Given the description of an element on the screen output the (x, y) to click on. 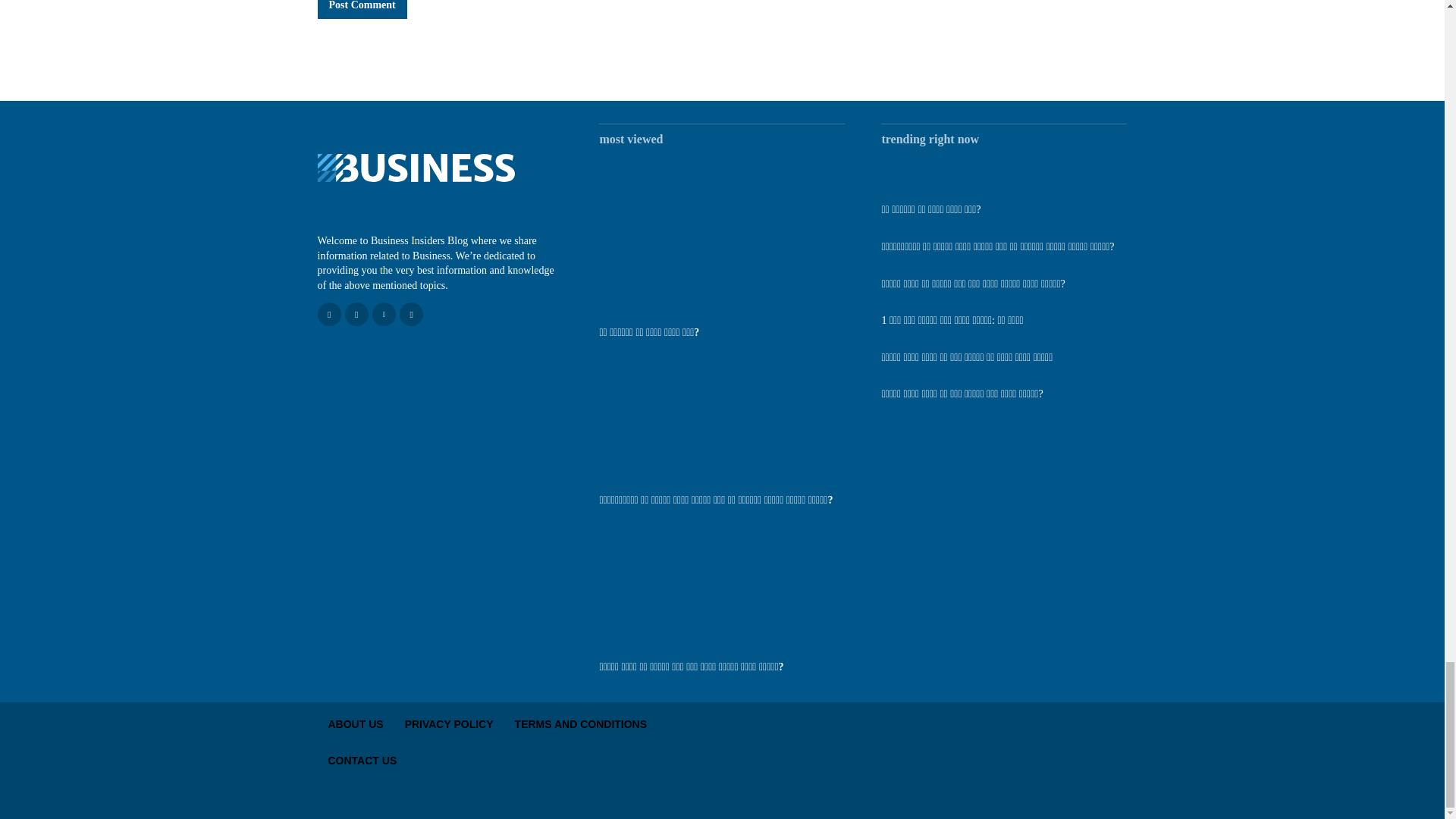
Post Comment (361, 9)
